Given the description of an element on the screen output the (x, y) to click on. 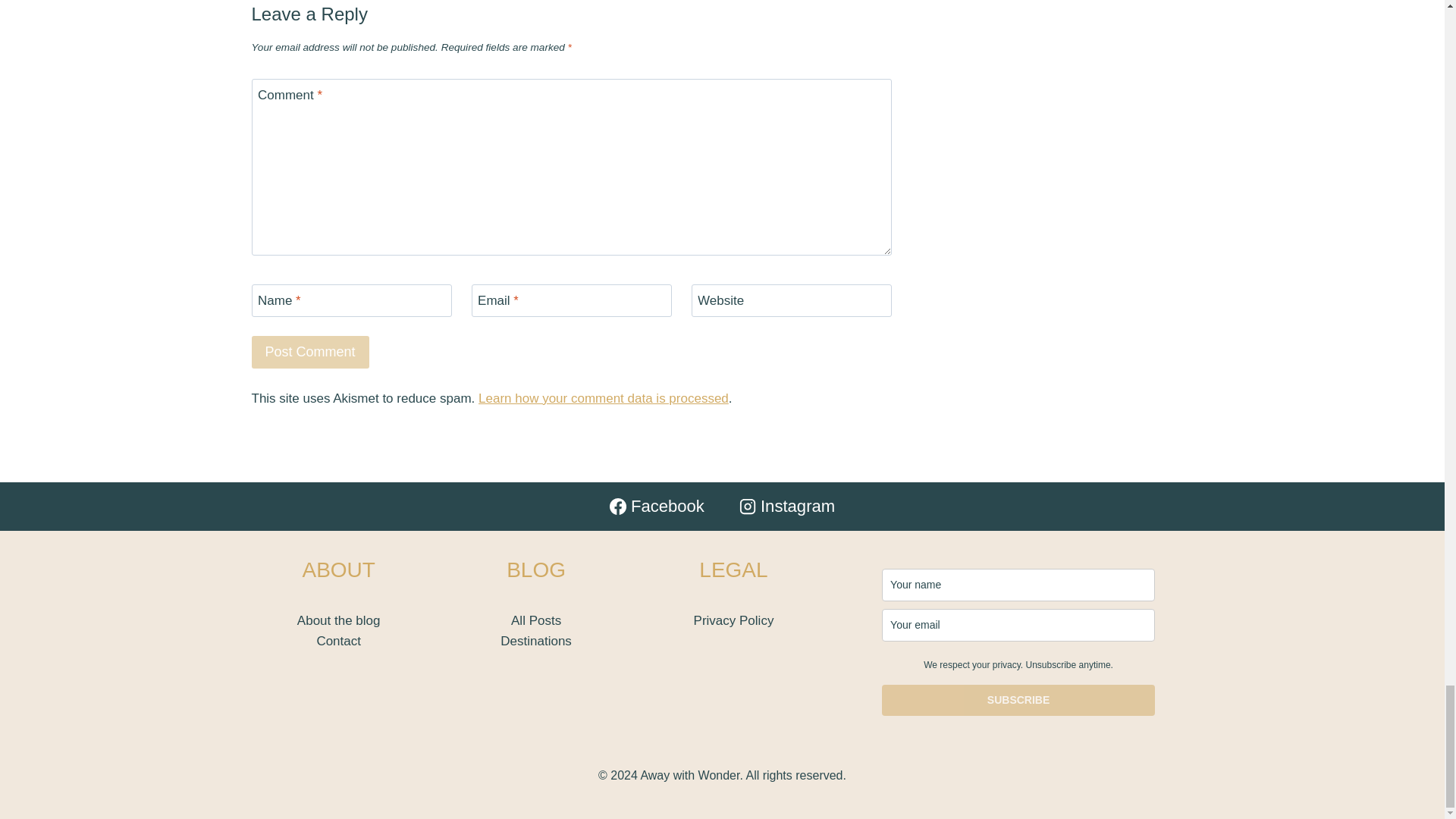
Post Comment (310, 351)
